Given the description of an element on the screen output the (x, y) to click on. 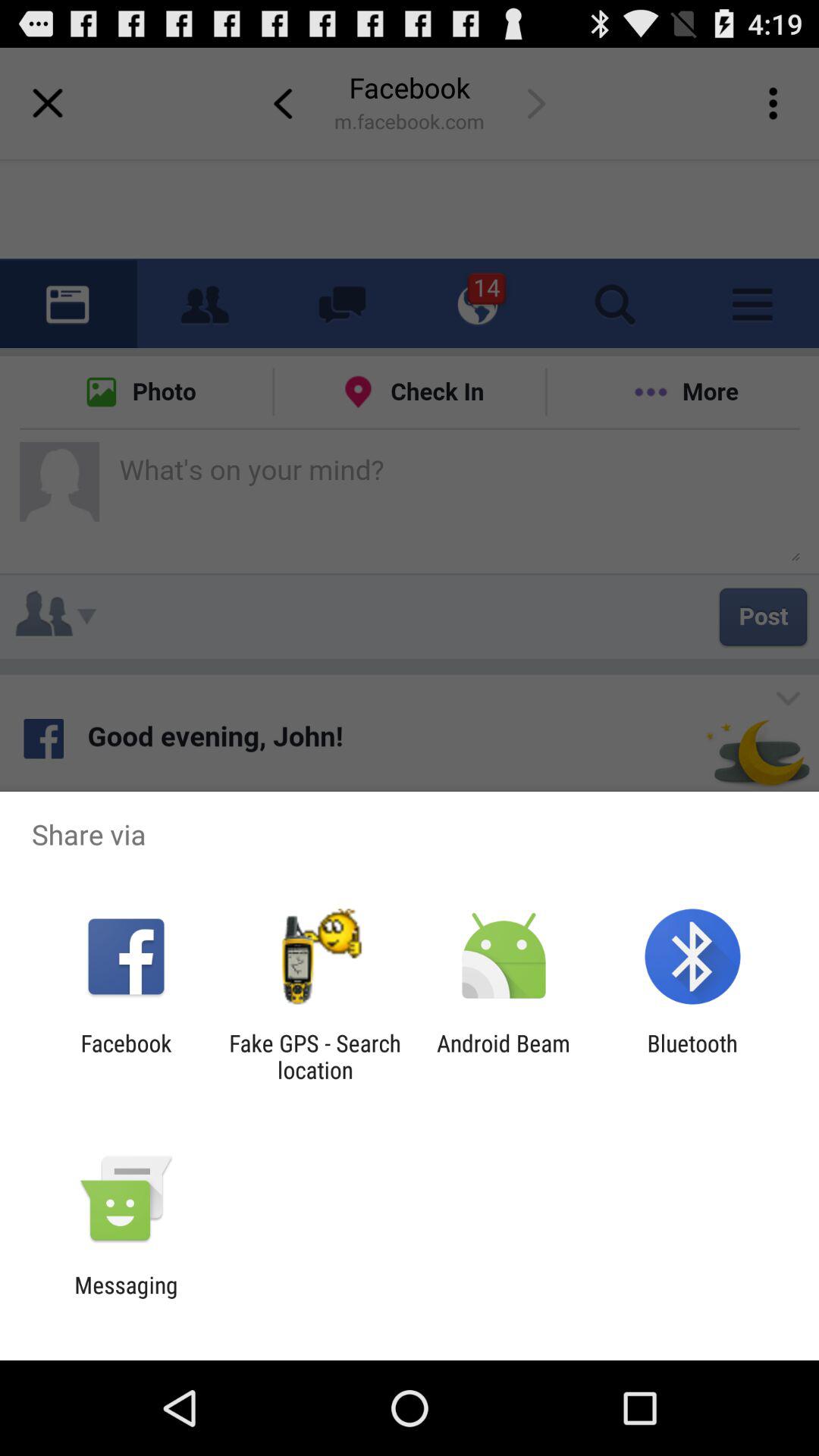
turn off item next to facebook icon (314, 1056)
